Given the description of an element on the screen output the (x, y) to click on. 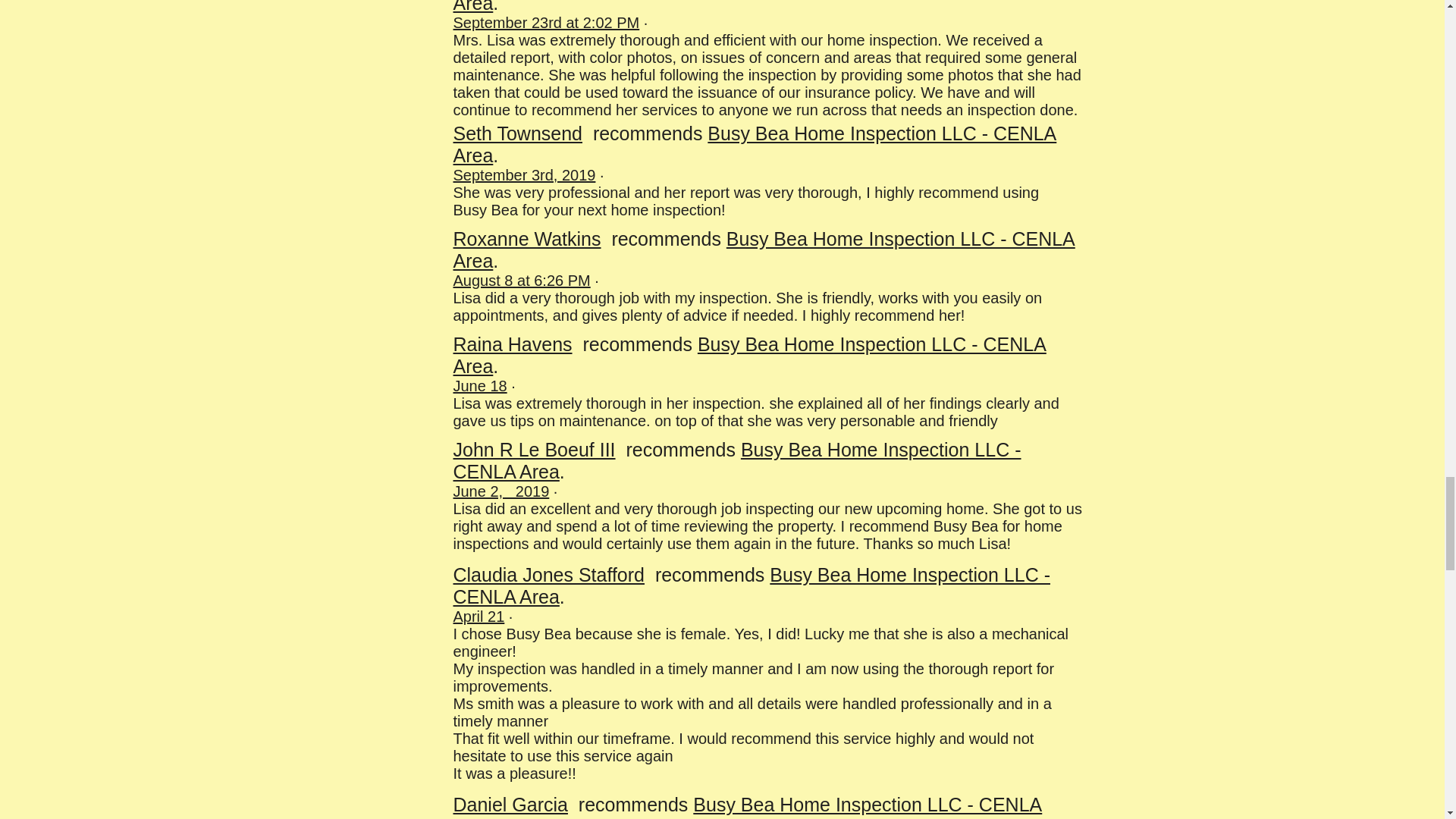
Seth Townsend (517, 133)
September 23rd at 2:02 PM (546, 22)
Busy Bea Home Inspection LLC - CENLA Area (763, 249)
Busy Bea Home Inspection LLC - CENLA Area (750, 6)
Busy Bea Home Inspection LLC - CENLA Area (754, 144)
Roxanne Watkins (526, 238)
September 3rd, 2019 (523, 175)
